Given the description of an element on the screen output the (x, y) to click on. 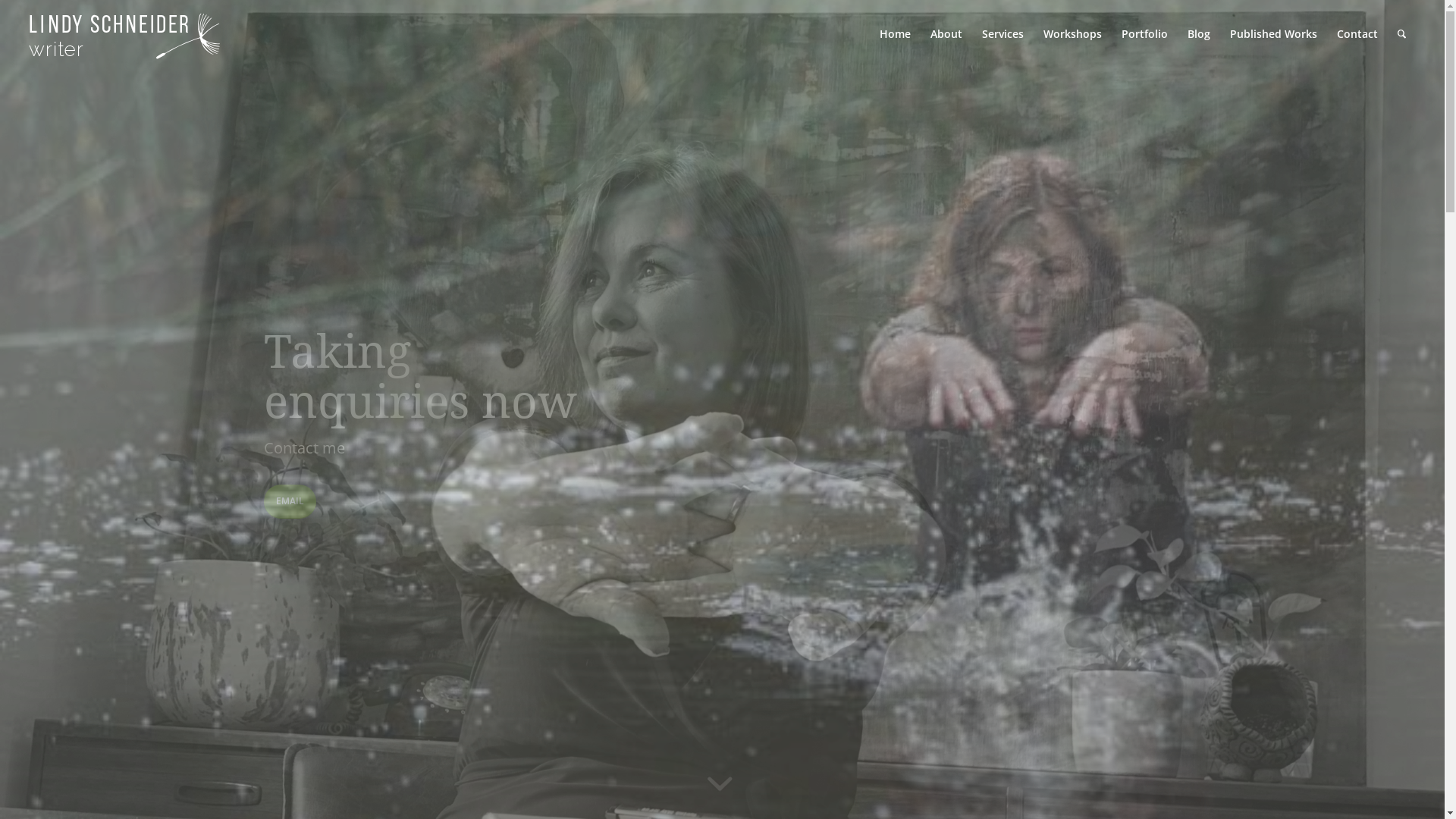
Home Element type: text (894, 34)
lindy-web-logo-positive Element type: hover (123, 45)
Portfolio Element type: text (1144, 34)
Published Works Element type: text (1273, 34)
lindy-web-logo-negative Element type: hover (123, 35)
About Element type: text (946, 34)
EMAIL Element type: text (289, 501)
Workshops Element type: text (1072, 34)
Services Element type: text (1002, 34)
Contact Element type: text (1357, 34)
Blog Element type: text (1198, 34)
